Given the description of an element on the screen output the (x, y) to click on. 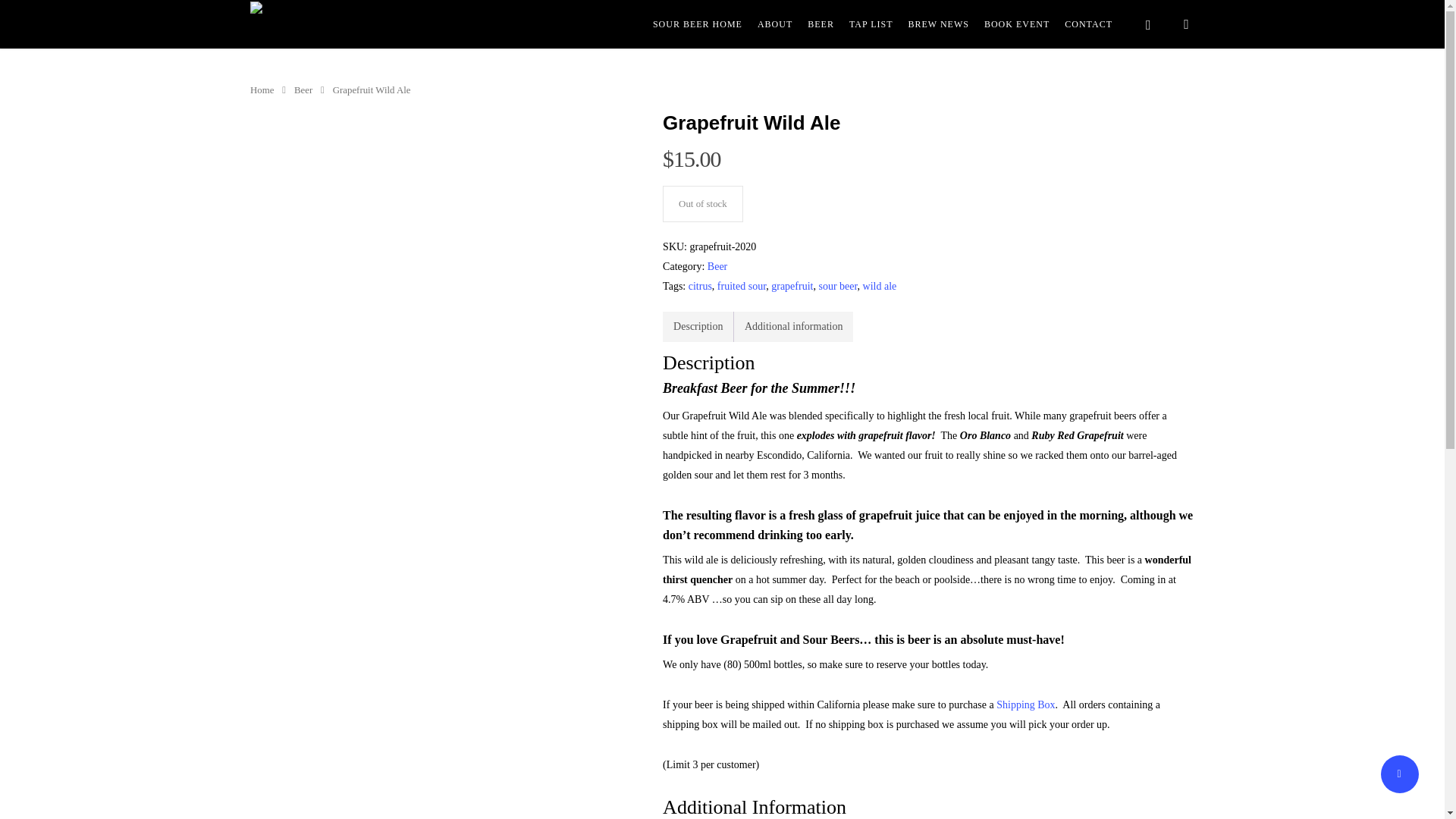
Additional information (793, 327)
Home (261, 90)
ABOUT (774, 24)
Beer (716, 266)
SOUR BEER HOME (697, 24)
wild ale (879, 285)
CONTACT (1088, 24)
grapefruit (791, 285)
Beer (303, 90)
BEER (821, 24)
BREW NEWS (938, 24)
BOOK EVENT (1016, 24)
citrus (699, 285)
TAP LIST (870, 24)
Description (697, 327)
